Given the description of an element on the screen output the (x, y) to click on. 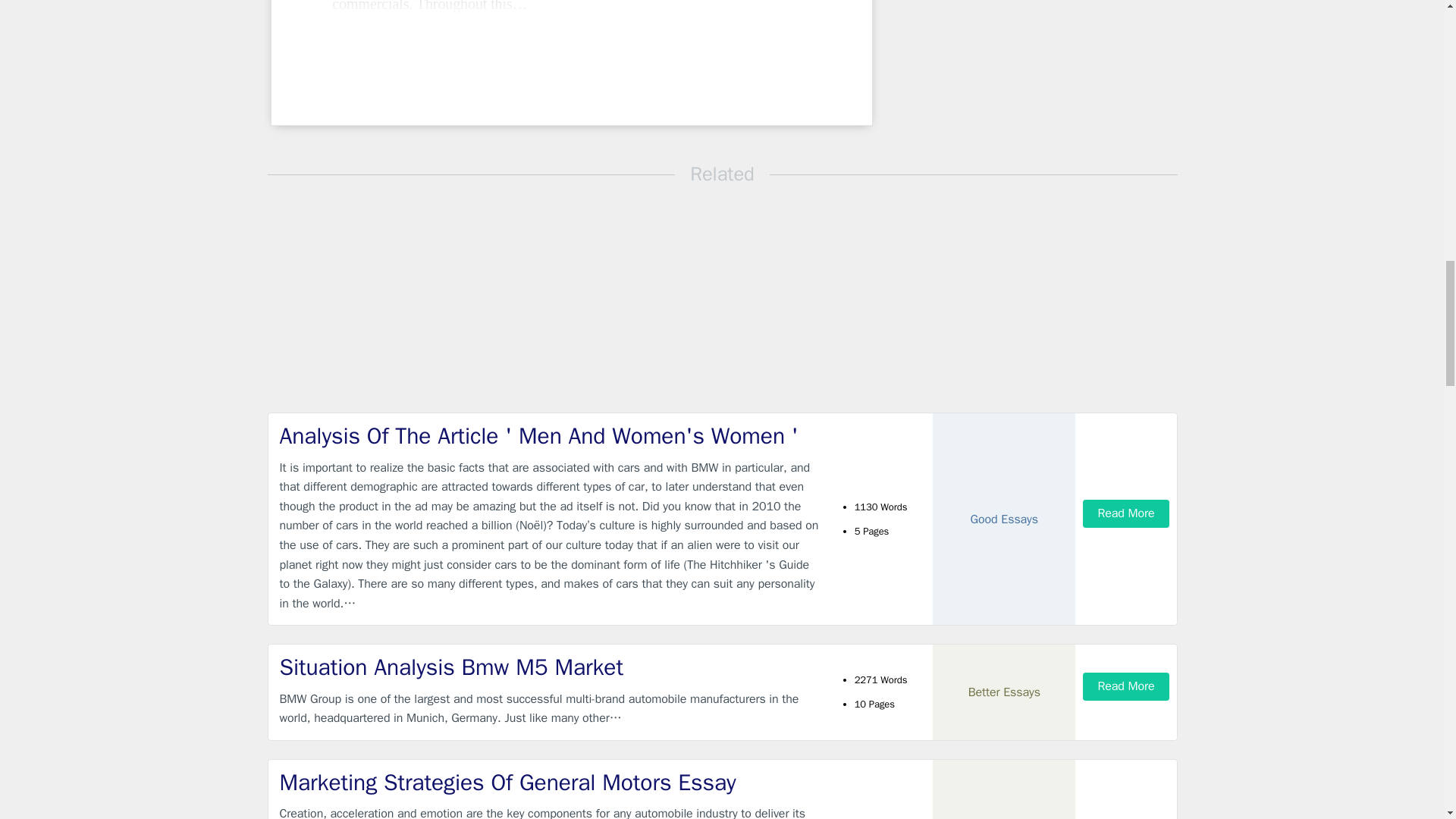
Read More (1126, 686)
Analysis Of The Article ' Men And Women's Women ' (548, 436)
Read More (1126, 513)
Marketing Strategies Of General Motors Essay (548, 782)
Situation Analysis Bmw M5 Market (548, 667)
